Given the description of an element on the screen output the (x, y) to click on. 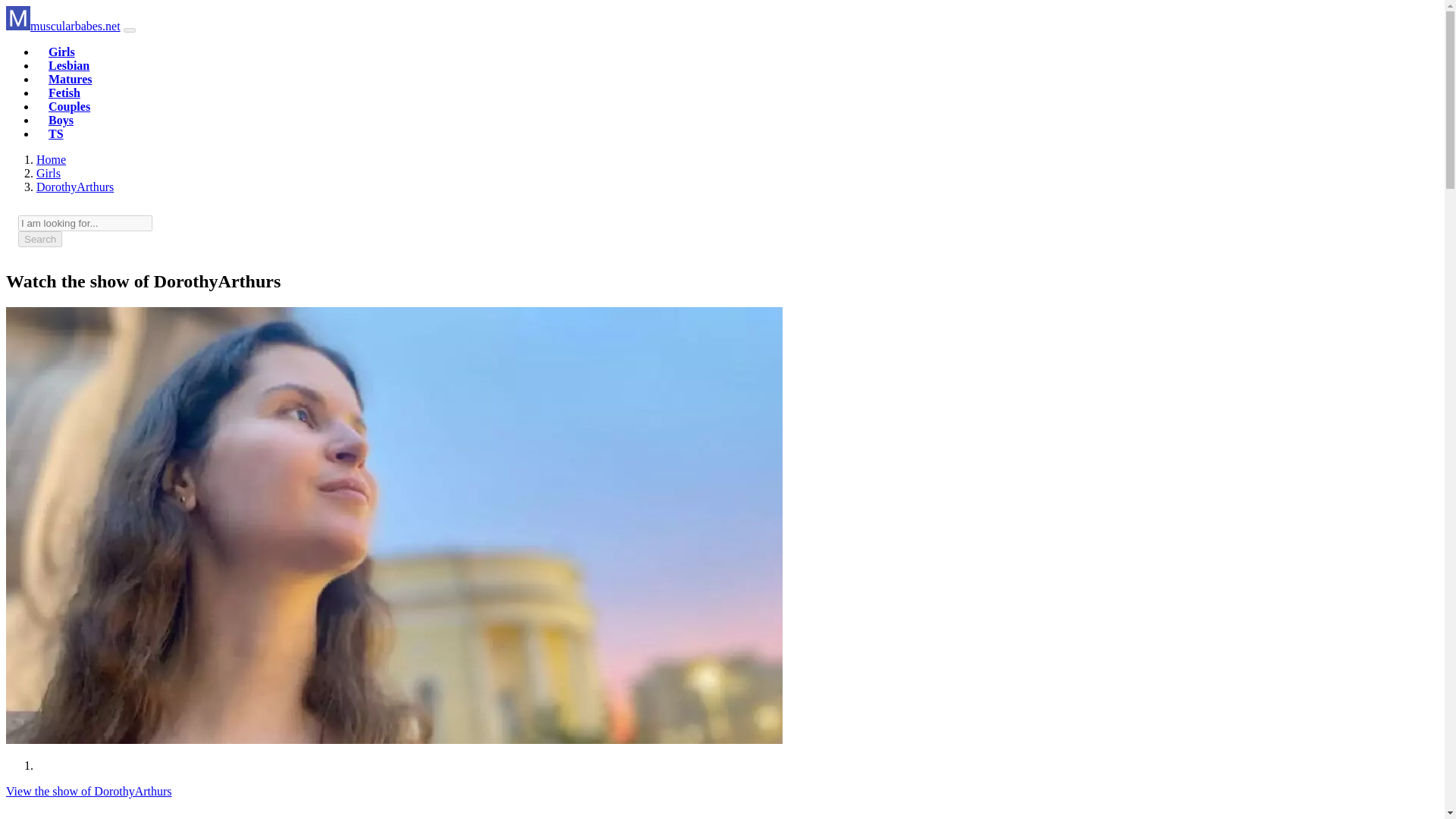
Boys (61, 119)
muscularbabes.net (62, 25)
Girls (61, 51)
muscularbabes.net (62, 25)
Couples (69, 106)
Fetish (64, 92)
Girls (48, 173)
Girls (61, 51)
DorothyArthurs (74, 186)
Home (50, 159)
Lesbian (68, 65)
Girls (48, 173)
Matures (69, 78)
TS (56, 133)
View the show of DorothyArthurs (88, 790)
